Given the description of an element on the screen output the (x, y) to click on. 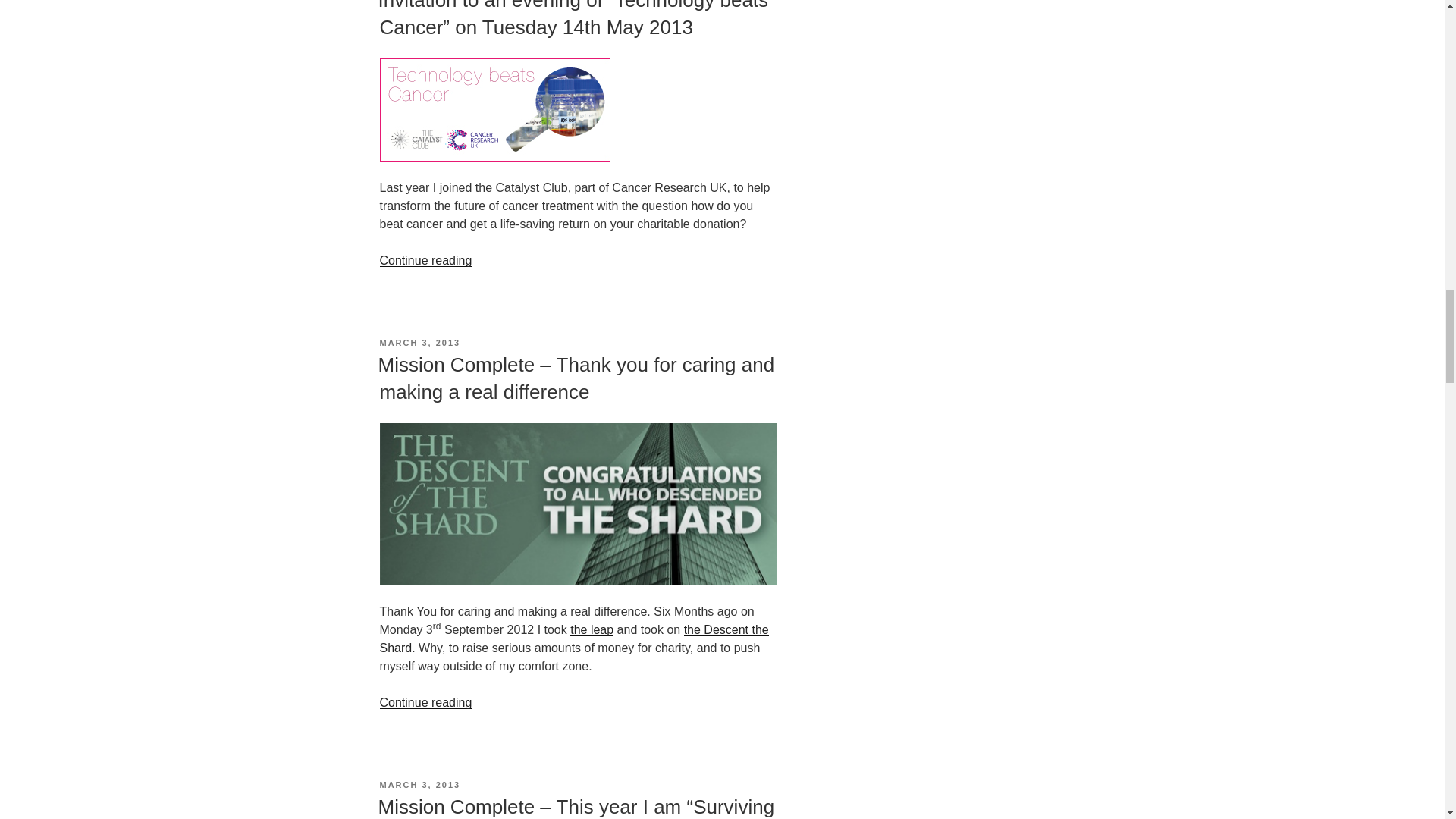
MARCH 3, 2013 (419, 342)
MARCH 3, 2013 (419, 784)
the leap (591, 629)
the Descent the Shard (573, 638)
